Given the description of an element on the screen output the (x, y) to click on. 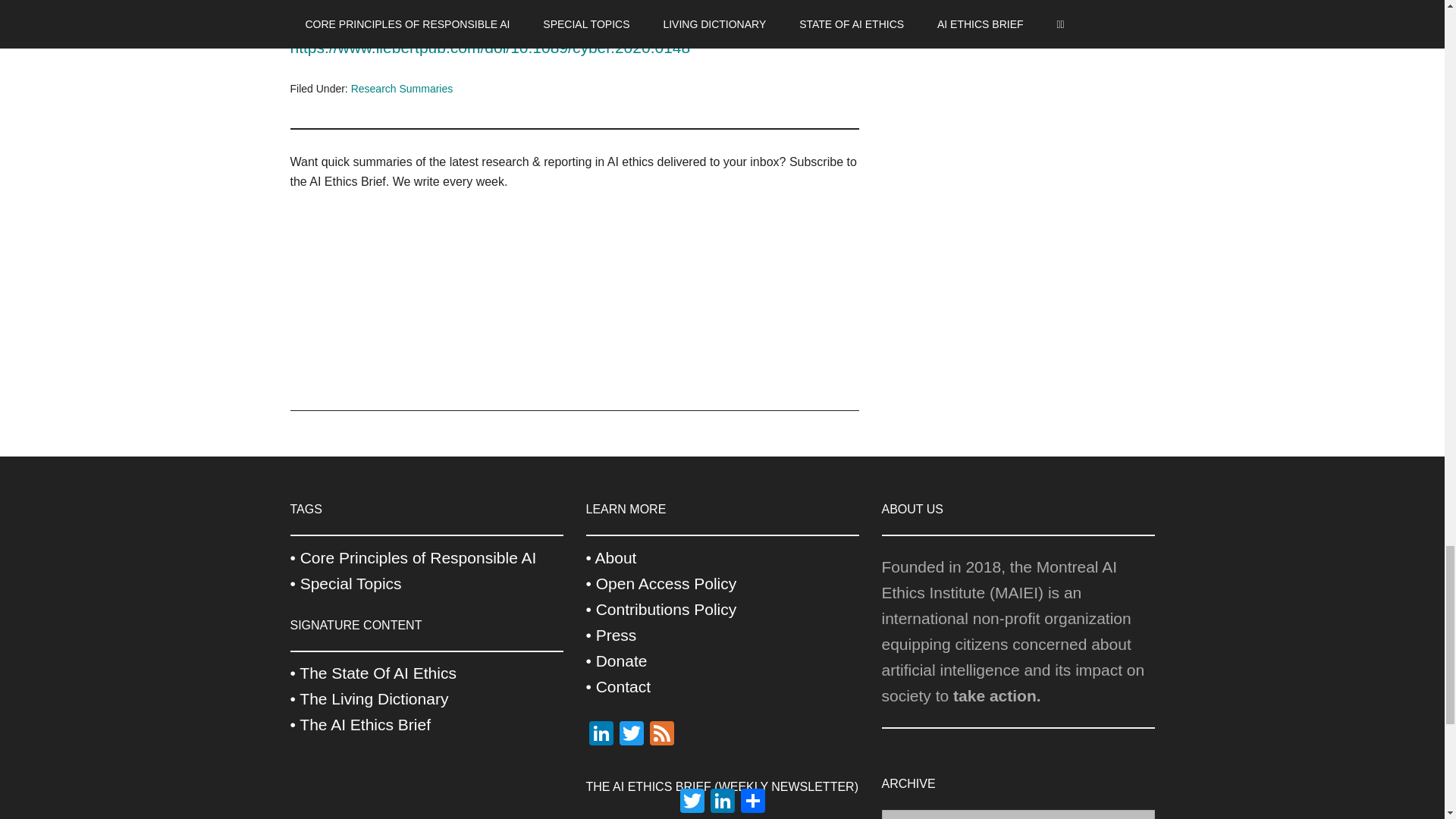
RSS Feed (661, 734)
LinkedIn Company (600, 734)
Research Summaries (401, 88)
Twitter (630, 734)
